Given the description of an element on the screen output the (x, y) to click on. 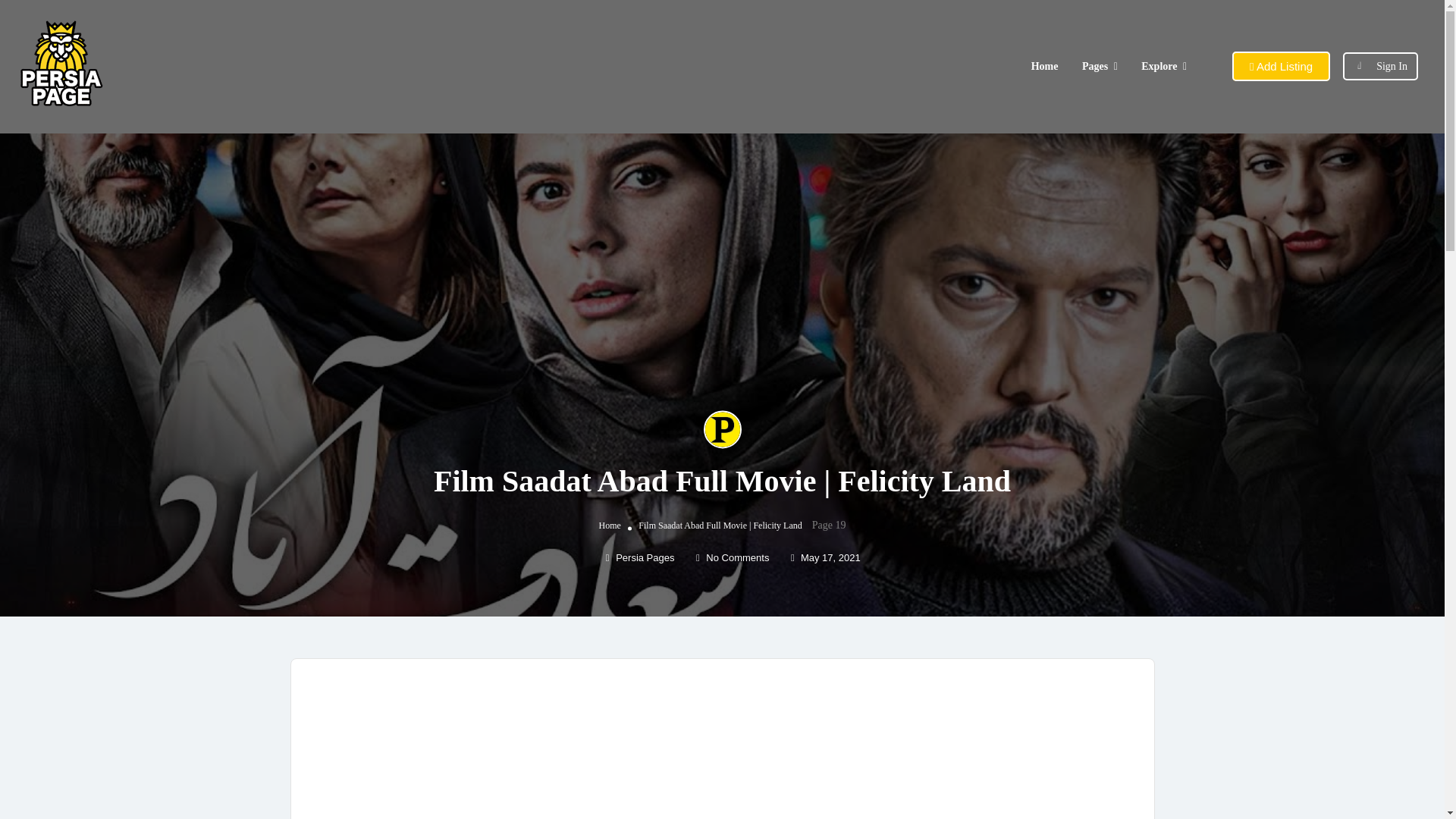
Explore (1158, 66)
No Comments (731, 557)
Home (609, 525)
Persia Pages (640, 557)
Home (1044, 66)
Pages (1094, 66)
Add Listing (1280, 66)
Sign In (1391, 65)
